Given the description of an element on the screen output the (x, y) to click on. 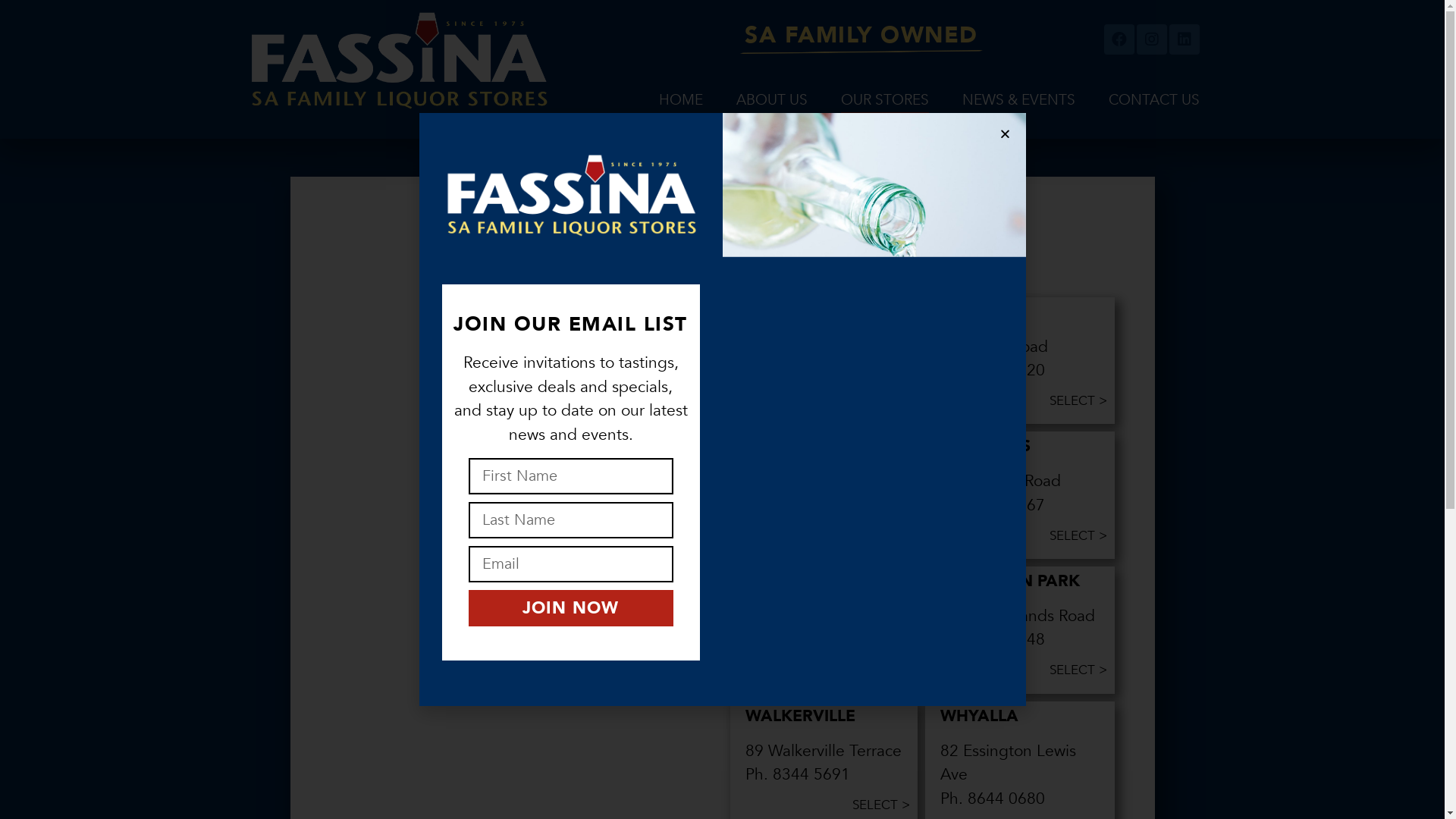
8244 9010 Element type: text (810, 505)
8344 5691 Element type: text (810, 774)
104 Jetty Road Element type: text (994, 346)
89 Walkerville Terrace Element type: text (822, 751)
5 Addison Road Element type: text (801, 616)
138 Hanson Road Element type: text (807, 481)
382 Anzac Highway Element type: text (814, 346)
82 Essington Lewis Ave Element type: text (1008, 763)
JOIN NOW Element type: text (570, 607)
8264 3067 Element type: text (1005, 505)
SELECT > Element type: text (1078, 535)
ABOUT US Element type: text (771, 99)
SELECT > Element type: text (881, 804)
SELECT > Element type: text (1078, 400)
SELECT > Element type: text (1078, 669)
8295 2320 Element type: text (1005, 370)
SELECT > Element type: text (881, 669)
8376 1848 Element type: text (1005, 639)
8447 1907 Element type: text (810, 639)
OUR STORES Element type: text (884, 99)
8295 6967 Element type: text (810, 370)
NEWS & EVENTS Element type: text (1018, 99)
SELECT > Element type: text (881, 400)
37-39 Oaklands Road Element type: text (1017, 616)
HOME Element type: text (680, 99)
405 Bridge Road Element type: text (1000, 481)
8644 0680 Element type: text (1005, 798)
CONTACT US Element type: text (1153, 99)
SELECT > Element type: text (881, 535)
